Given the description of an element on the screen output the (x, y) to click on. 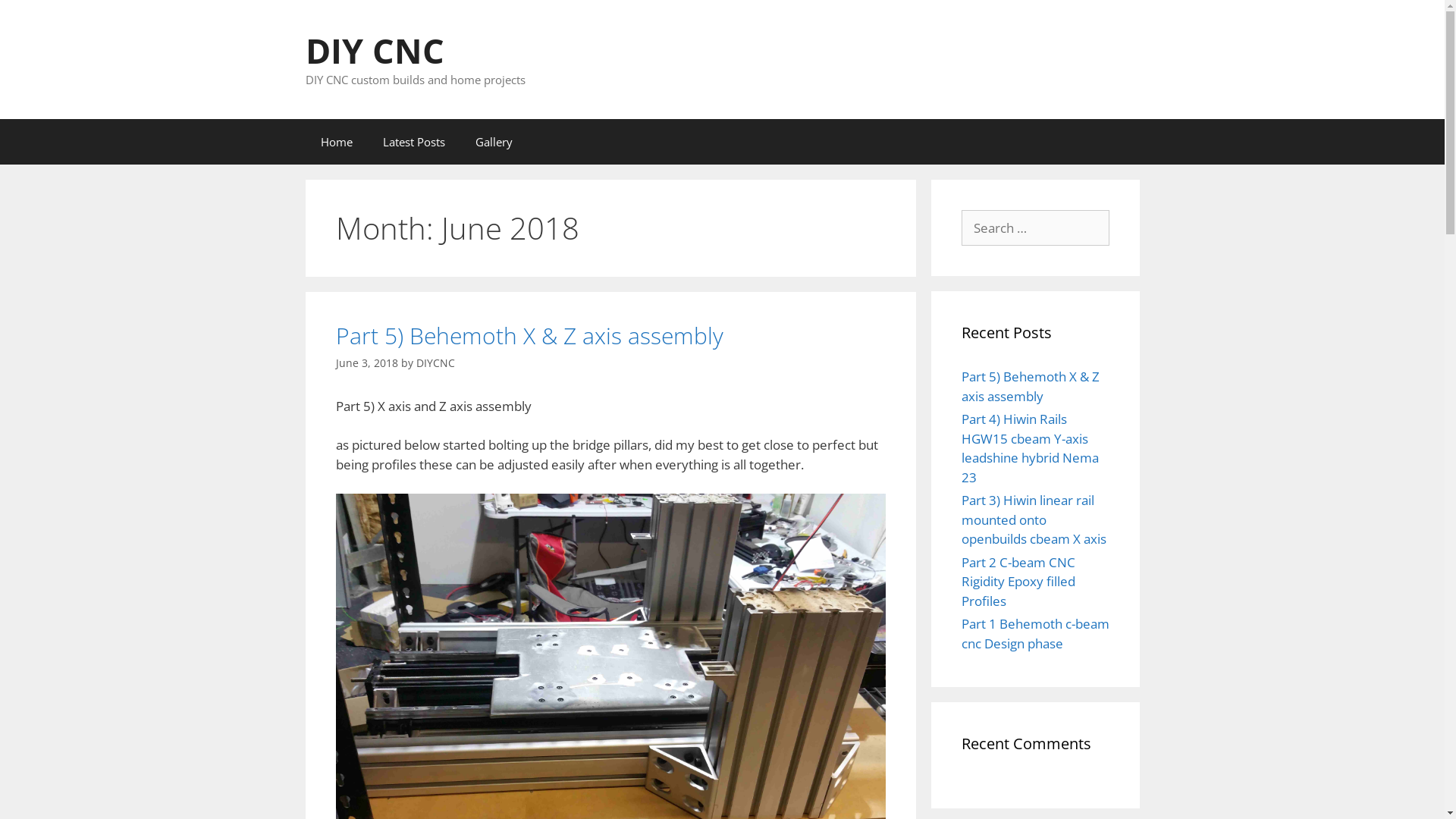
Part 2 C-beam CNC Rigidity Epoxy filled Profiles Element type: text (1018, 581)
DIY CNC Element type: text (373, 50)
Gallery Element type: text (493, 140)
Home Element type: text (335, 140)
Part 1 Behemoth c-beam cnc Design phase Element type: text (1035, 633)
Part 5) Behemoth X & Z axis assembly Element type: text (1030, 385)
Search for: Element type: hover (1035, 227)
DIYCNC Element type: text (434, 362)
Part 5) Behemoth X & Z axis assembly Element type: text (528, 335)
Latest Posts Element type: text (413, 140)
Search Element type: text (36, 18)
